Given the description of an element on the screen output the (x, y) to click on. 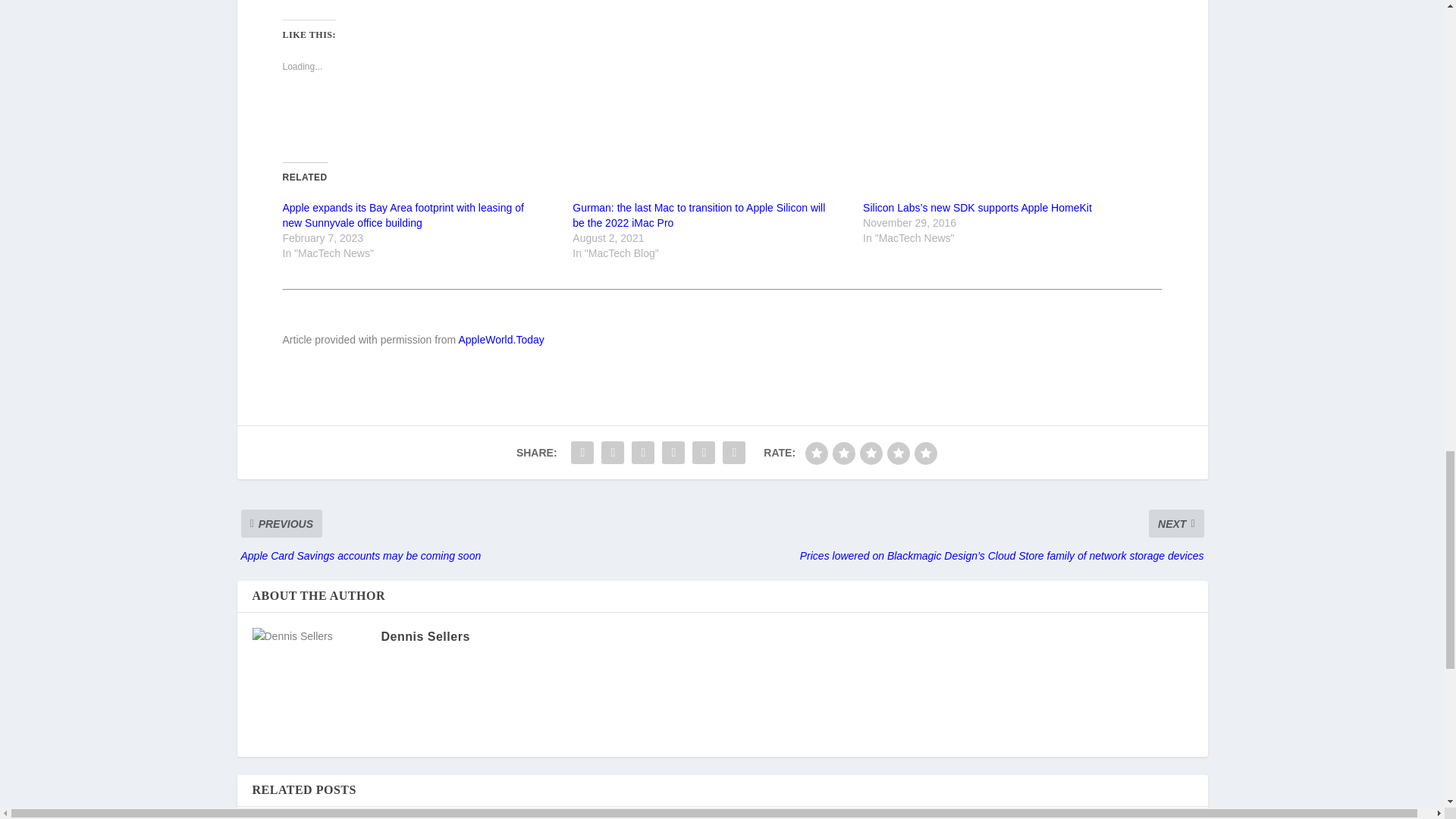
Like or Reblog (721, 119)
Share "News items you should check out: March 2" via Twitter (611, 452)
Share "News items you should check out: March 2" via Tumblr (642, 452)
